Given the description of an element on the screen output the (x, y) to click on. 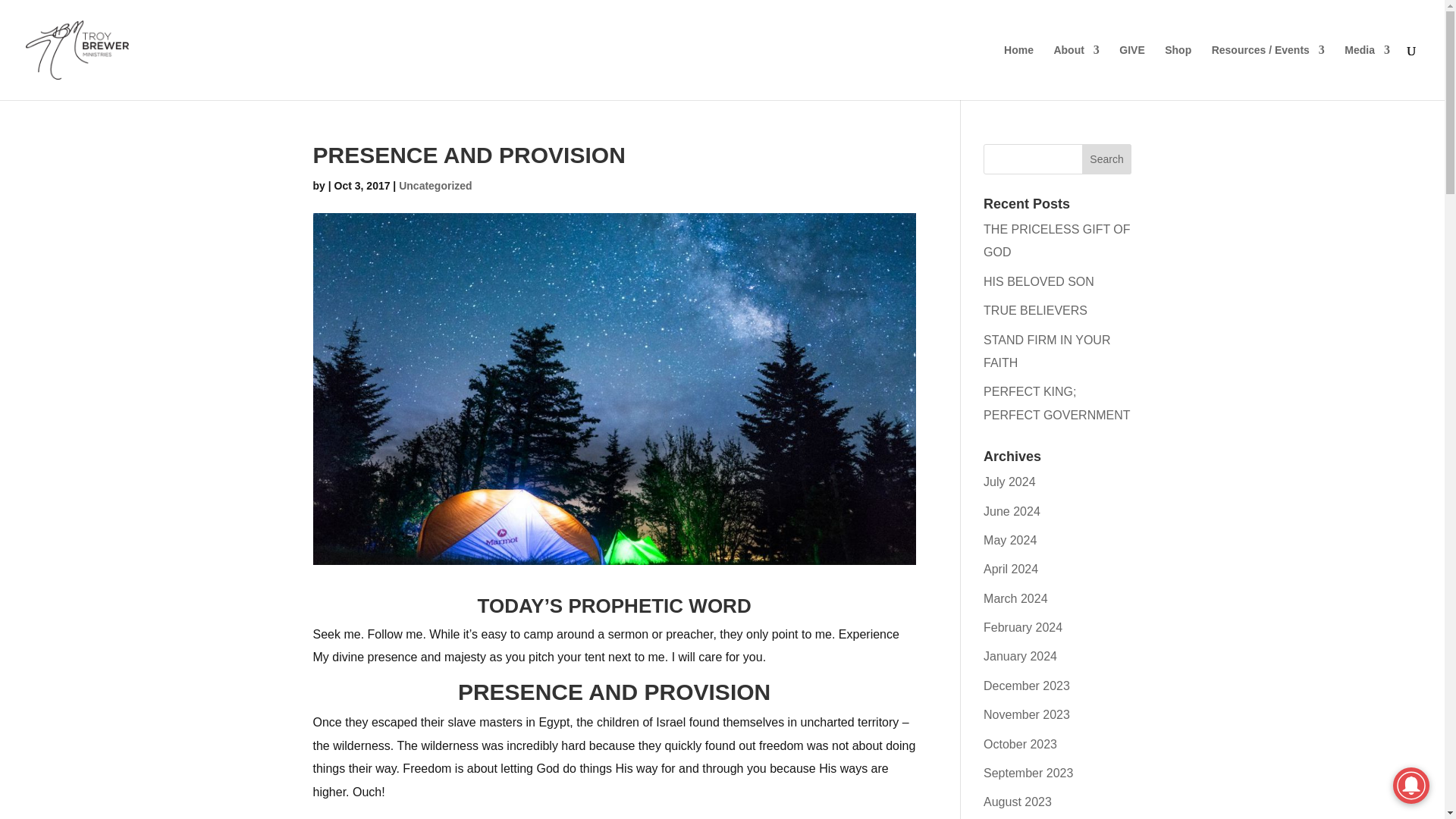
Search (1106, 159)
